Given the description of an element on the screen output the (x, y) to click on. 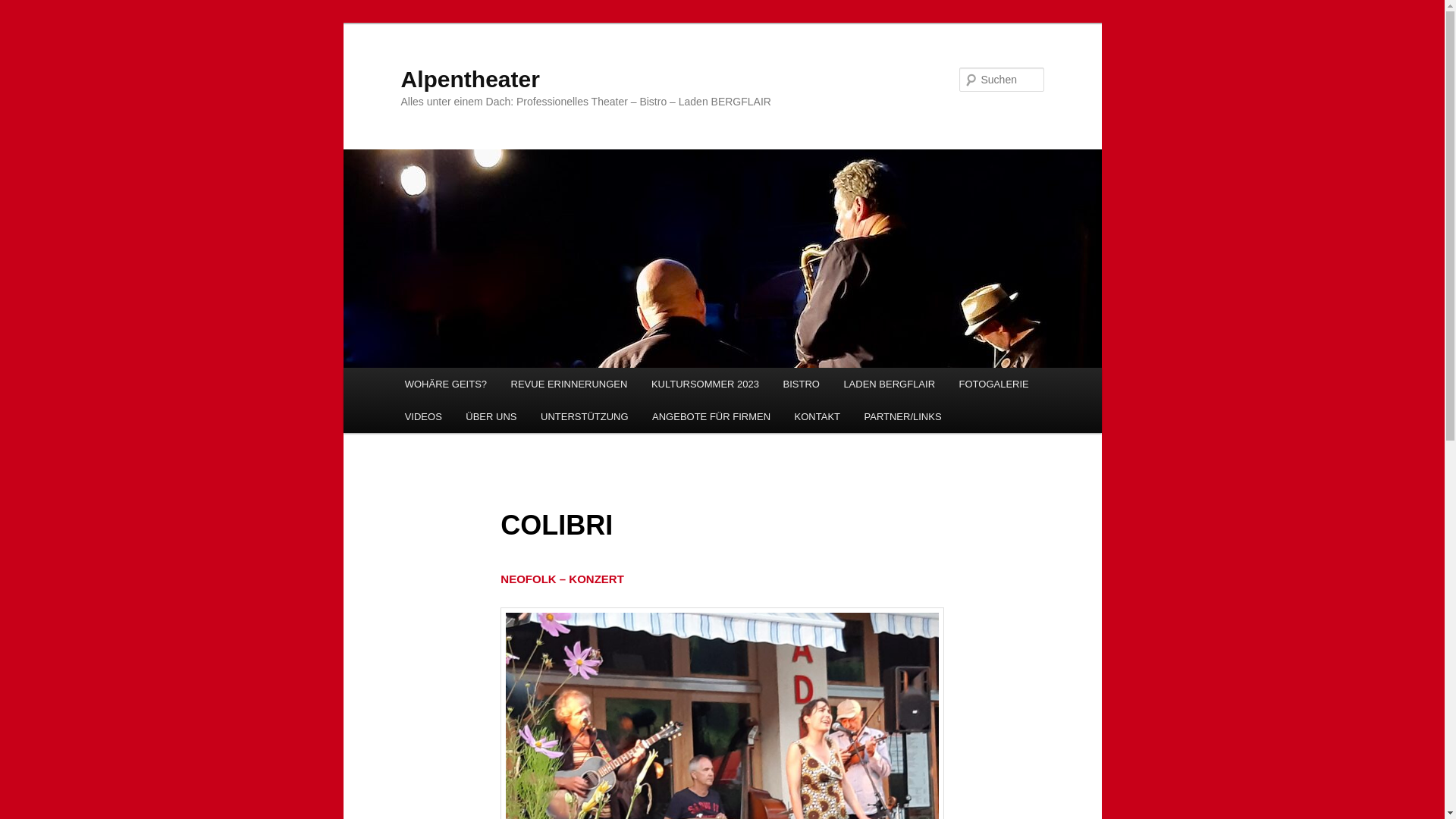
VIDEOS Element type: text (423, 416)
FOTOGALERIE Element type: text (994, 383)
KULTURSOMMER 2023 Element type: text (705, 383)
LADEN BERGFLAIR Element type: text (889, 383)
BISTRO Element type: text (801, 383)
REVUE ERINNERUNGEN Element type: text (568, 383)
Zum Inhalt wechseln Element type: text (22, 22)
Suchen Element type: text (25, 8)
PARTNER/LINKS Element type: text (902, 416)
Alpentheater Element type: text (469, 78)
KONTAKT Element type: text (817, 416)
